Given the description of an element on the screen output the (x, y) to click on. 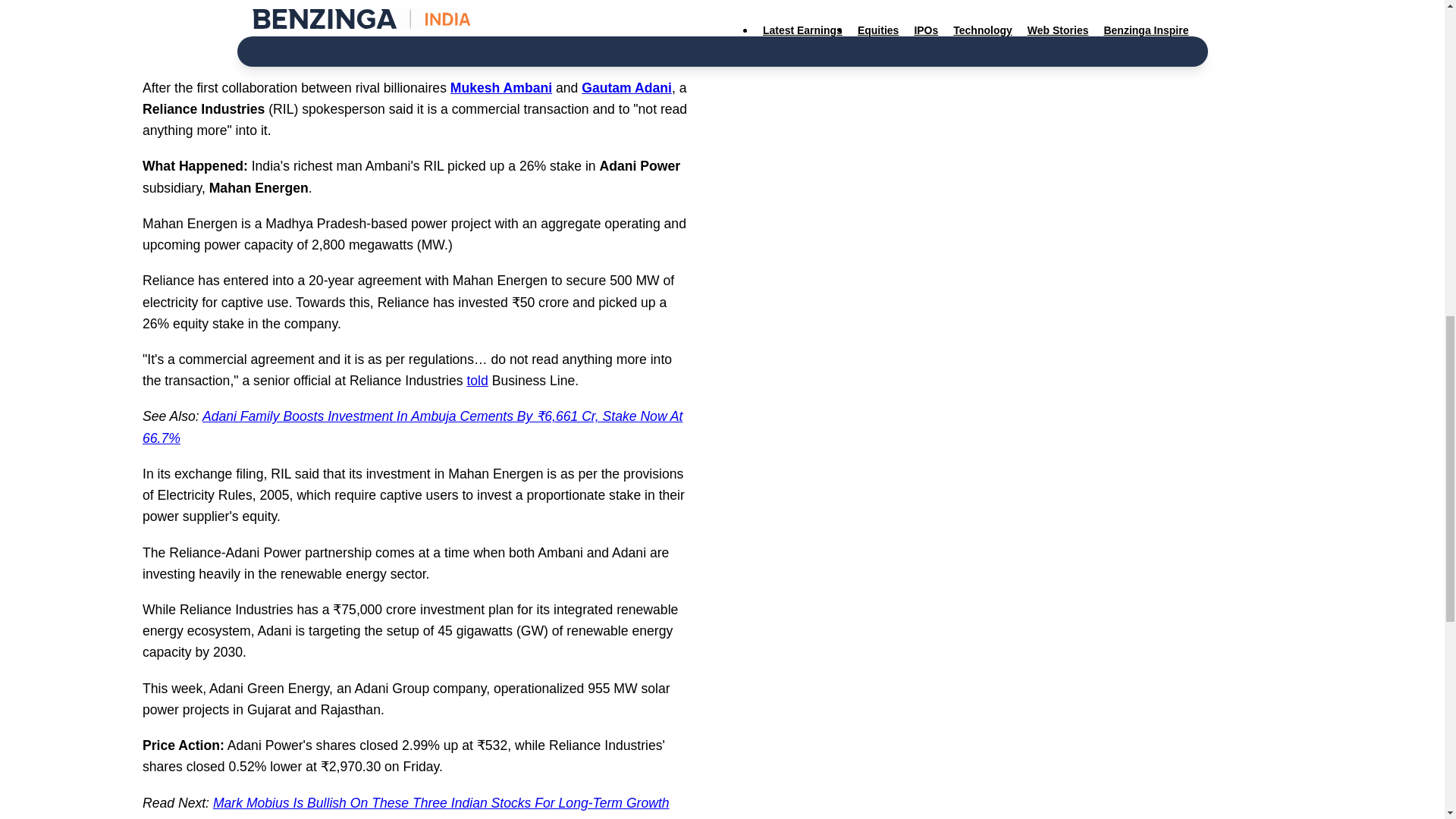
Mukesh Ambani (500, 87)
told (476, 380)
Gautam Adani (625, 87)
